Given the description of an element on the screen output the (x, y) to click on. 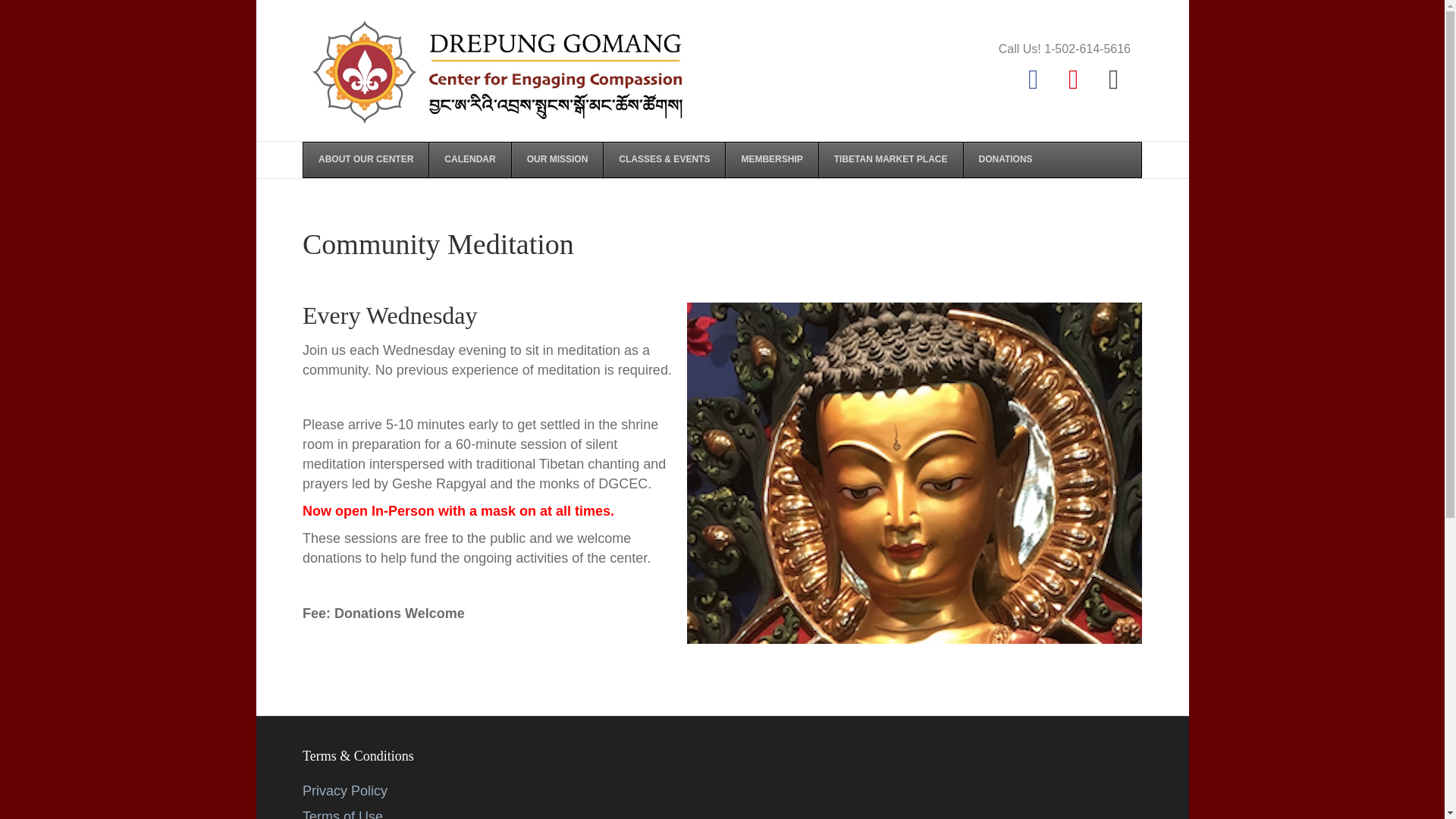
Youtube (1073, 79)
Email (1113, 79)
ABOUT OUR CENTER (365, 159)
Facebook (1032, 79)
